Given the description of an element on the screen output the (x, y) to click on. 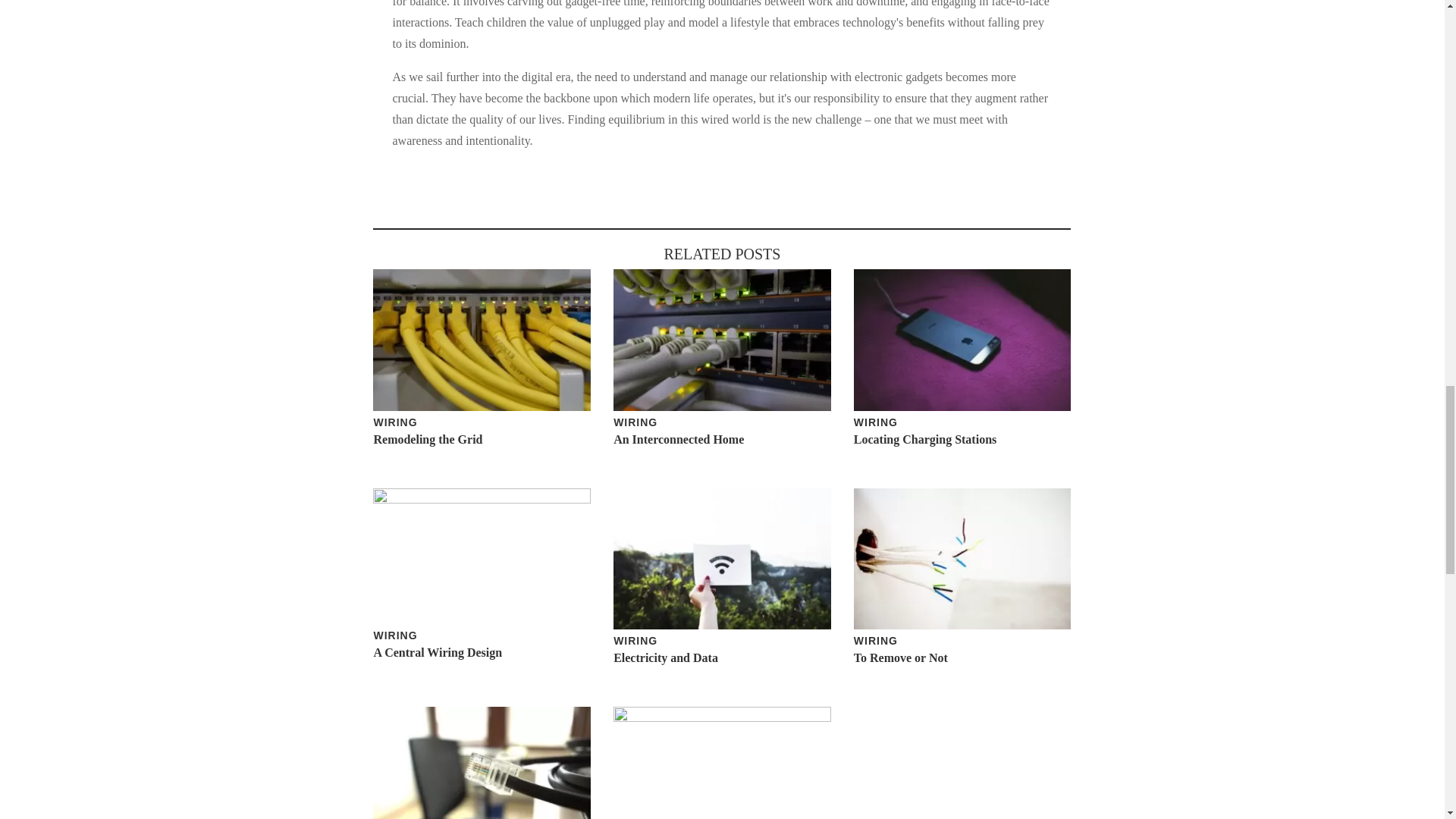
To Remove or Not (900, 657)
WIRING (394, 635)
WIRING (394, 422)
A Central Wiring Design (437, 652)
WIRING (875, 640)
Remodeling the Grid (426, 439)
WIRING (635, 640)
Electricity and Data (664, 657)
Locating Charging Stations (924, 439)
WIRING (875, 422)
An Interconnected Home (678, 439)
WIRING (635, 422)
